Given the description of an element on the screen output the (x, y) to click on. 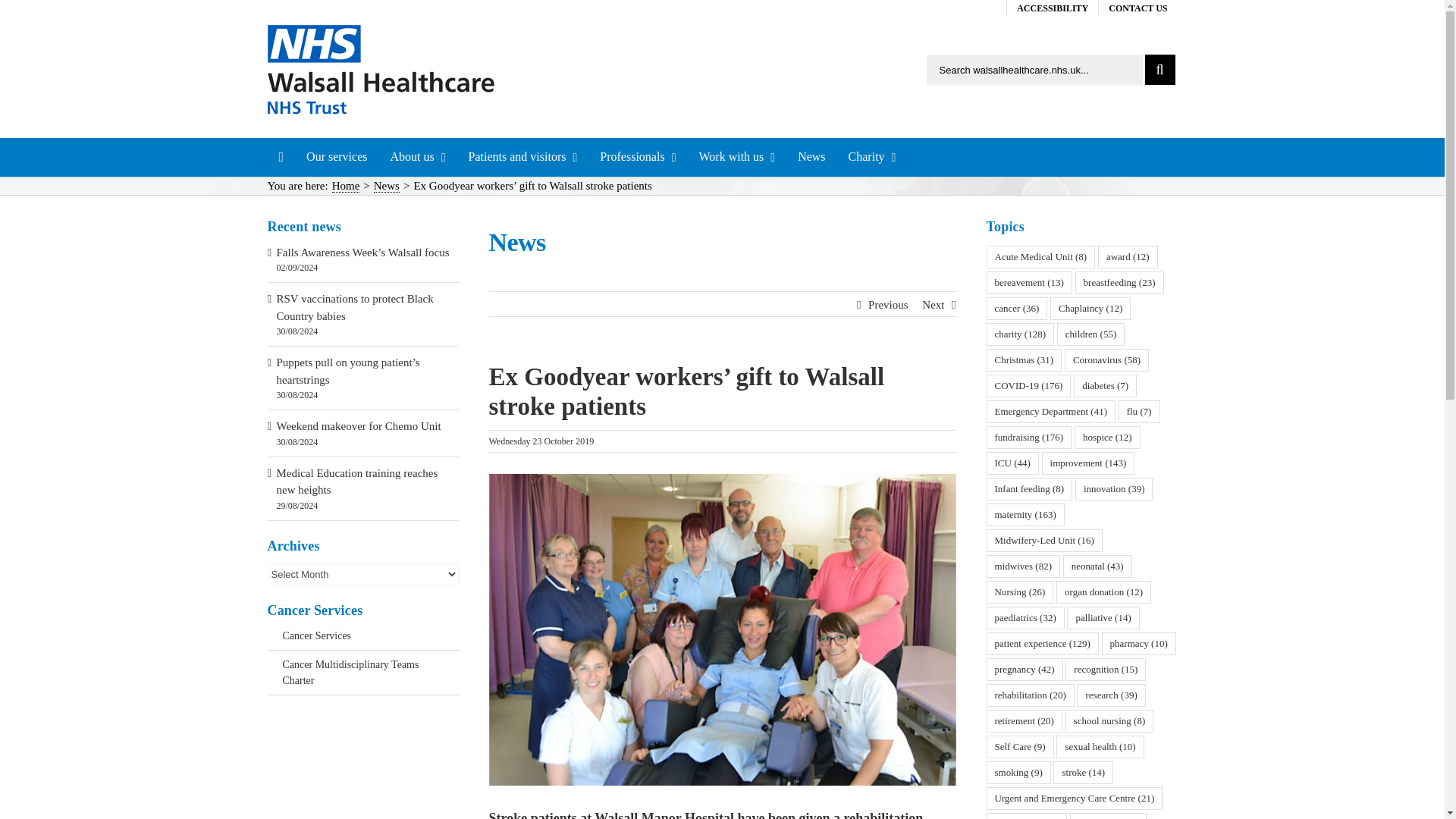
ACCESSIBILITY (1052, 8)
About us (417, 157)
Patients and visitors (523, 157)
Back to Parent Page (362, 639)
Our services (336, 157)
CONTACT US (1137, 8)
